Given the description of an element on the screen output the (x, y) to click on. 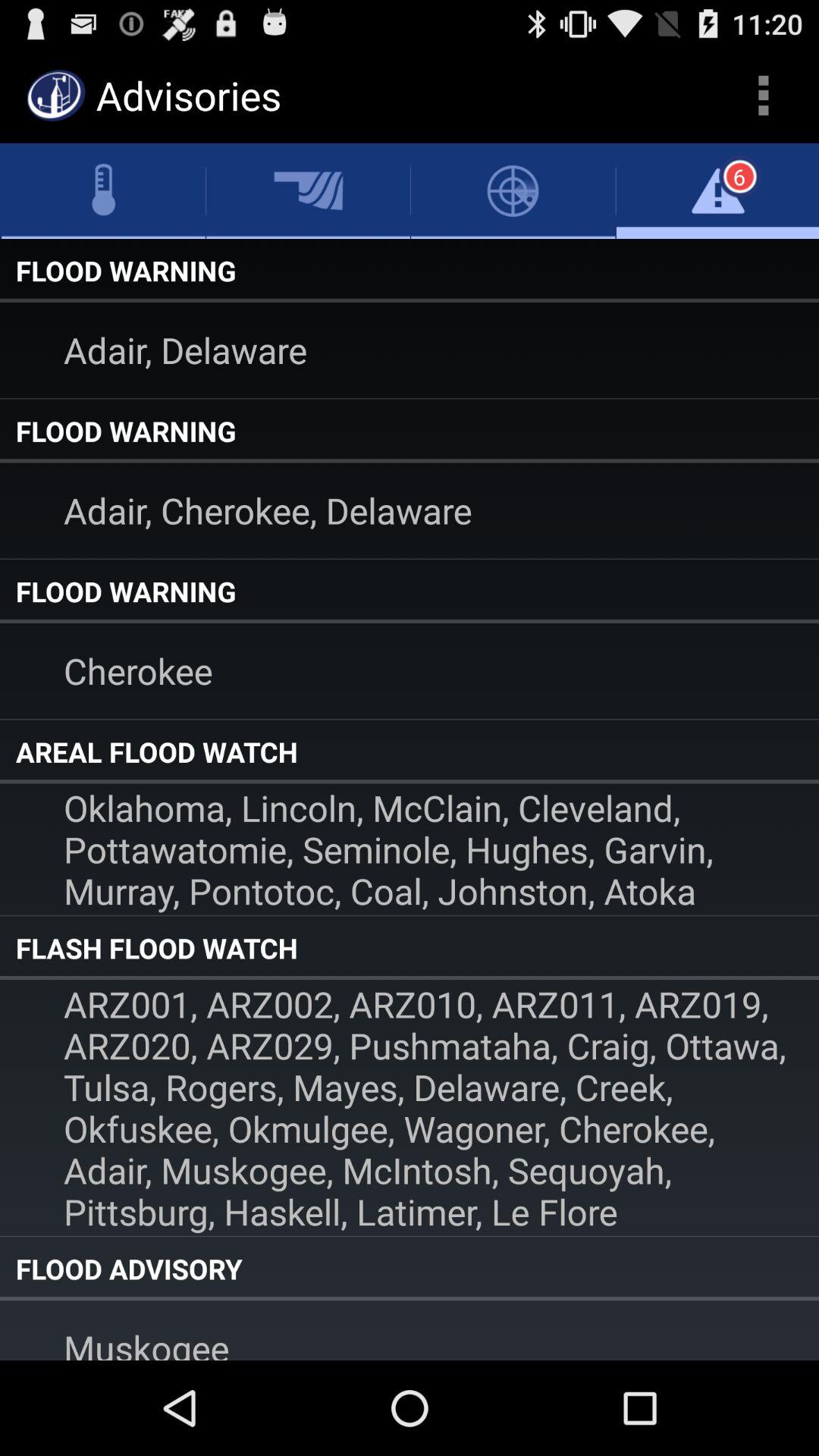
swipe to arz001 arz002 arz010 app (409, 1107)
